Given the description of an element on the screen output the (x, y) to click on. 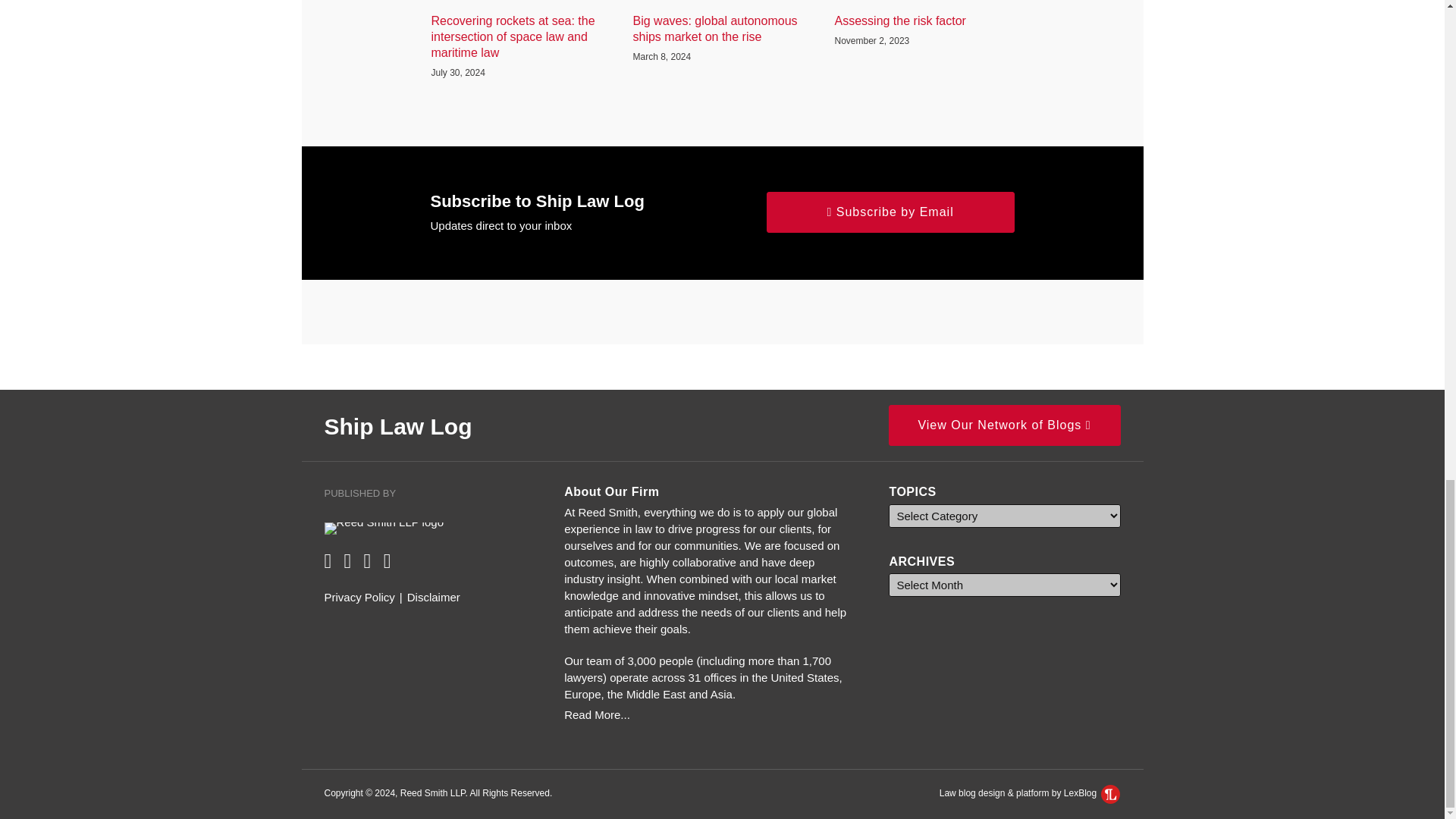
Ship Law Log (397, 426)
Privacy Policy (359, 597)
LexBlog Logo (1109, 793)
Disclaimer (433, 597)
Subscribe by Email (890, 211)
Assessing the risk factor (899, 21)
Big waves: global autonomous ships market on the rise (720, 29)
View Our Network of Blogs (1004, 424)
Read More... (710, 714)
